Given the description of an element on the screen output the (x, y) to click on. 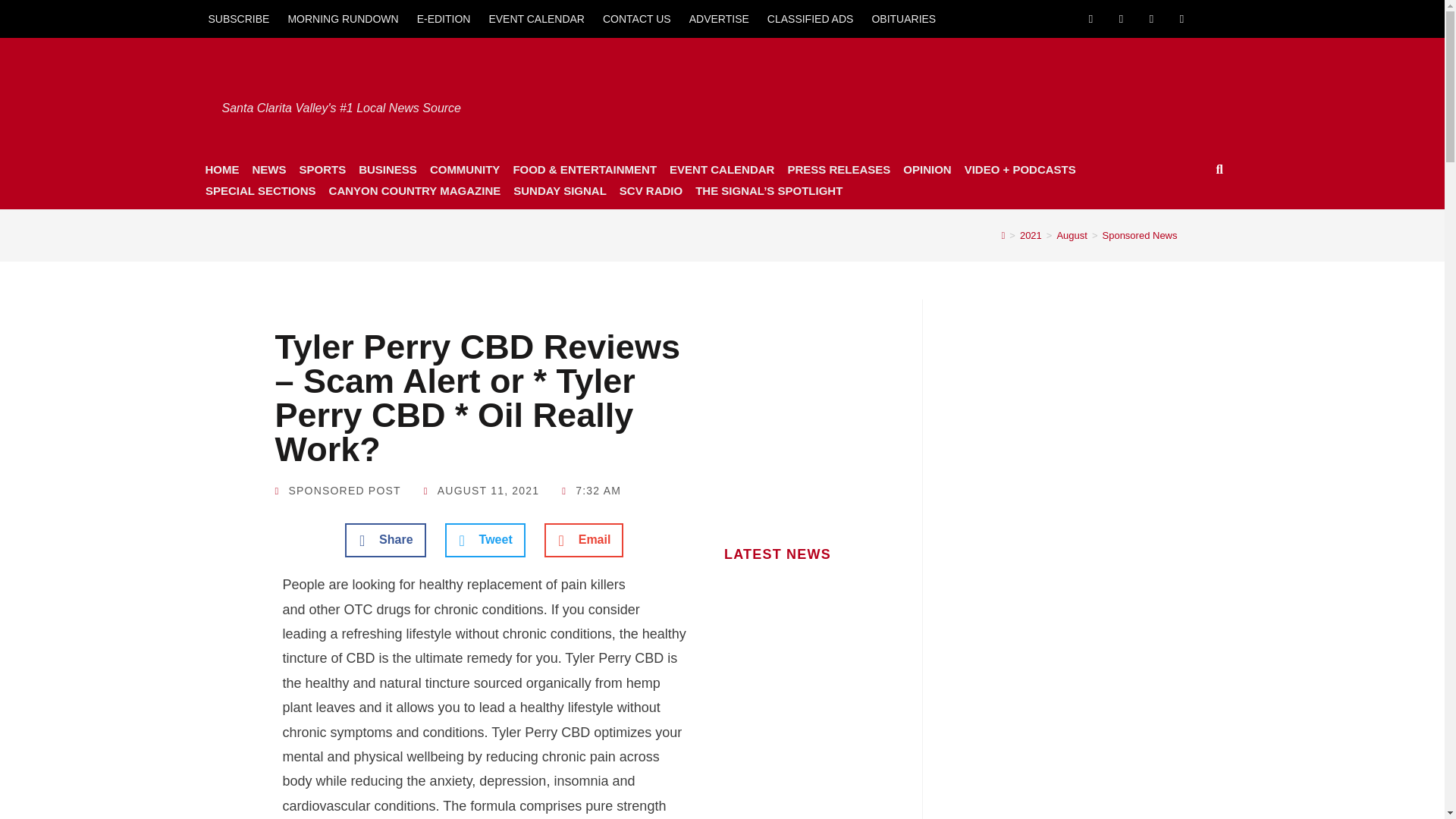
SUBSCRIBE (238, 18)
CONTACT US (636, 18)
CLASSIFIED ADS (810, 18)
ADVERTISE (718, 18)
E-EDITION (443, 18)
SPORTS (322, 169)
EVENT CALENDAR (536, 18)
HOME (221, 169)
OBITUARIES (902, 18)
MORNING RUNDOWN (342, 18)
NEWS (269, 169)
